Given the description of an element on the screen output the (x, y) to click on. 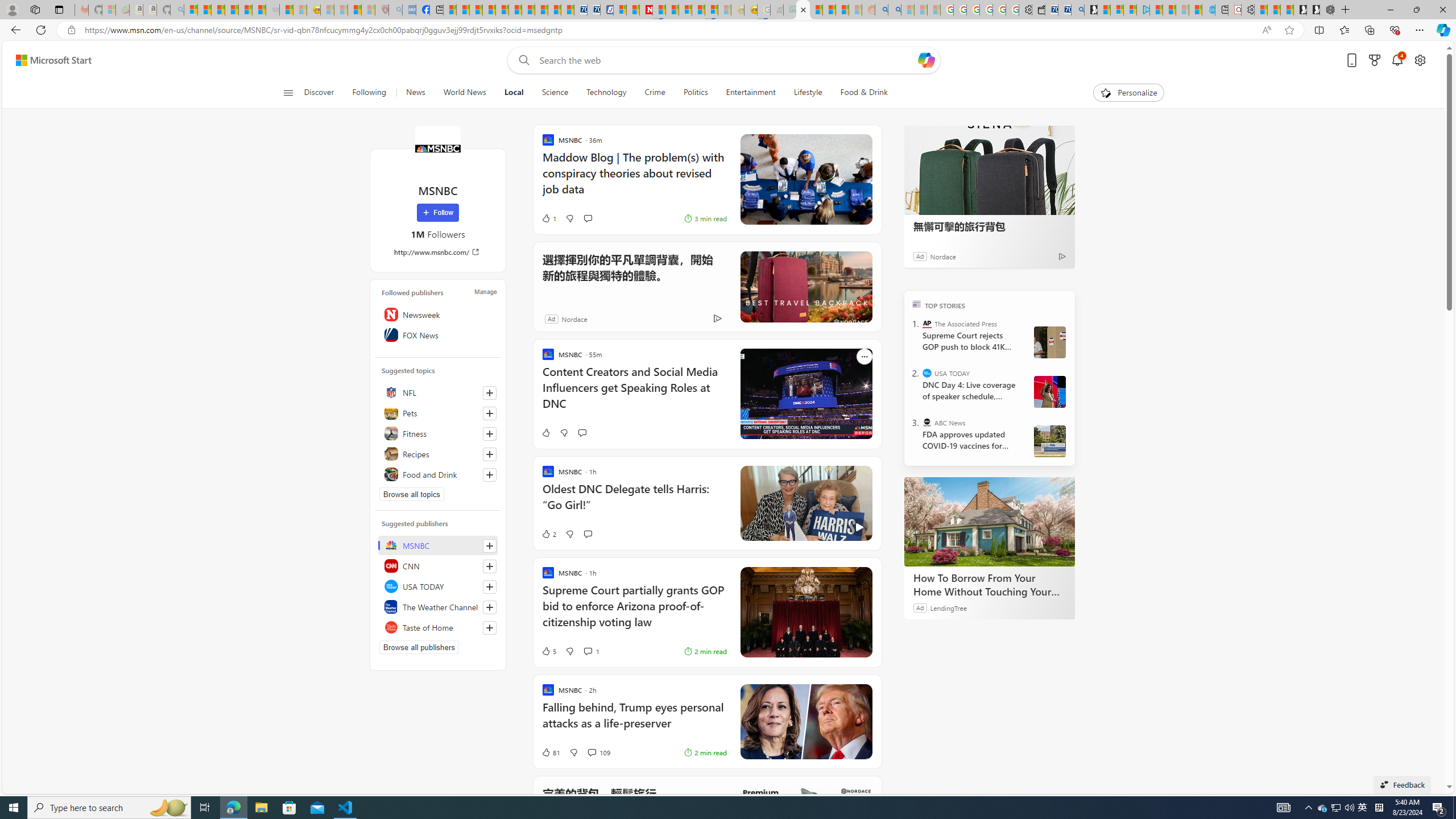
Food and Drink (437, 474)
Recipes (437, 453)
